Given the description of an element on the screen output the (x, y) to click on. 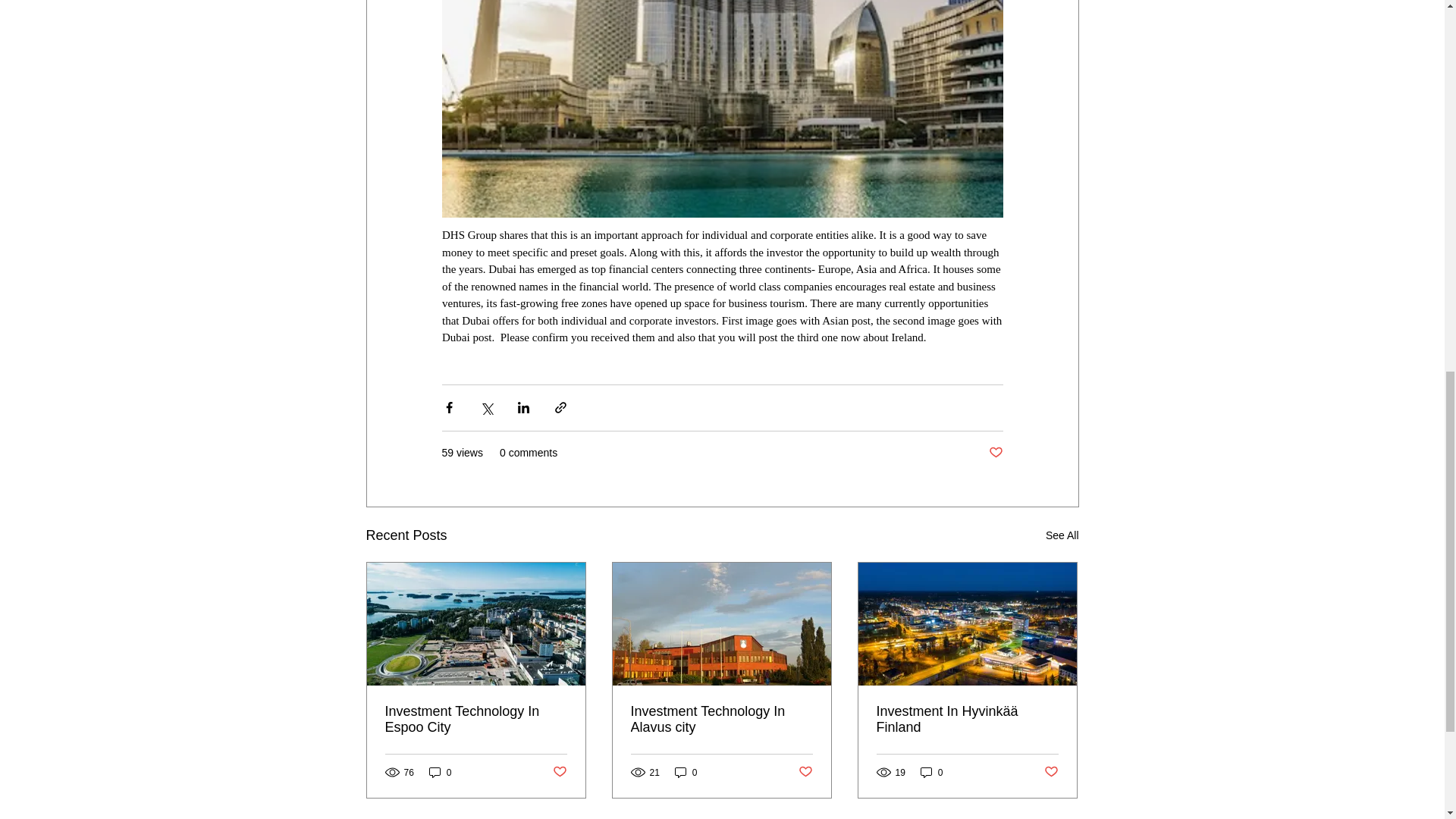
0 (685, 771)
Investment Technology In Espoo City (476, 719)
Post not marked as liked (558, 772)
Post not marked as liked (804, 772)
0 (440, 771)
Investment Technology In Alavus city (721, 719)
Post not marked as liked (995, 453)
See All (1061, 535)
